Given the description of an element on the screen output the (x, y) to click on. 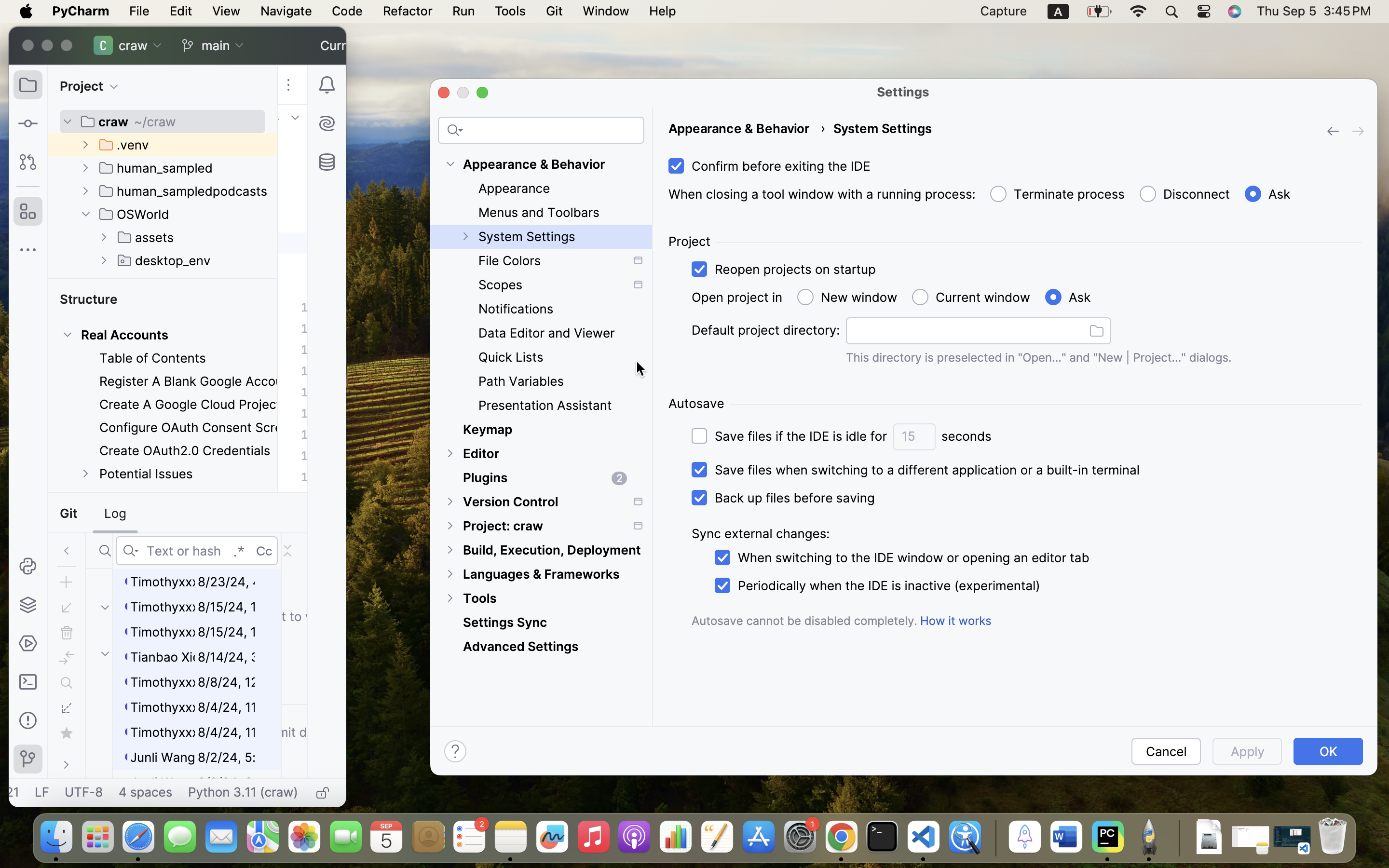
1 Element type: AXCheckBox (913, 470)
15 Element type: AXTextField (914, 436)
1 Element type: AXRadioButton (1265, 194)
